Given the description of an element on the screen output the (x, y) to click on. 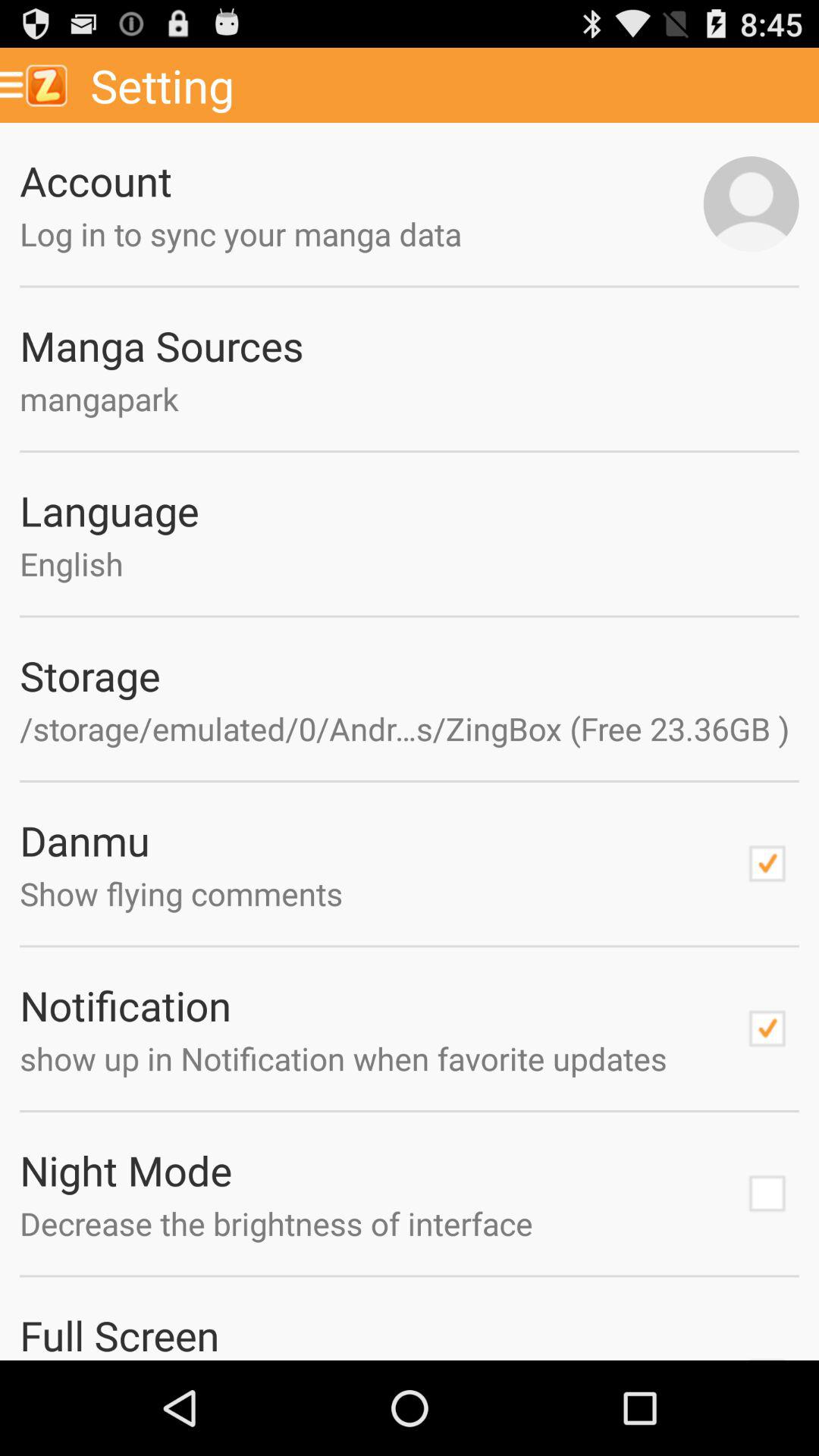
check option (767, 1028)
